Given the description of an element on the screen output the (x, y) to click on. 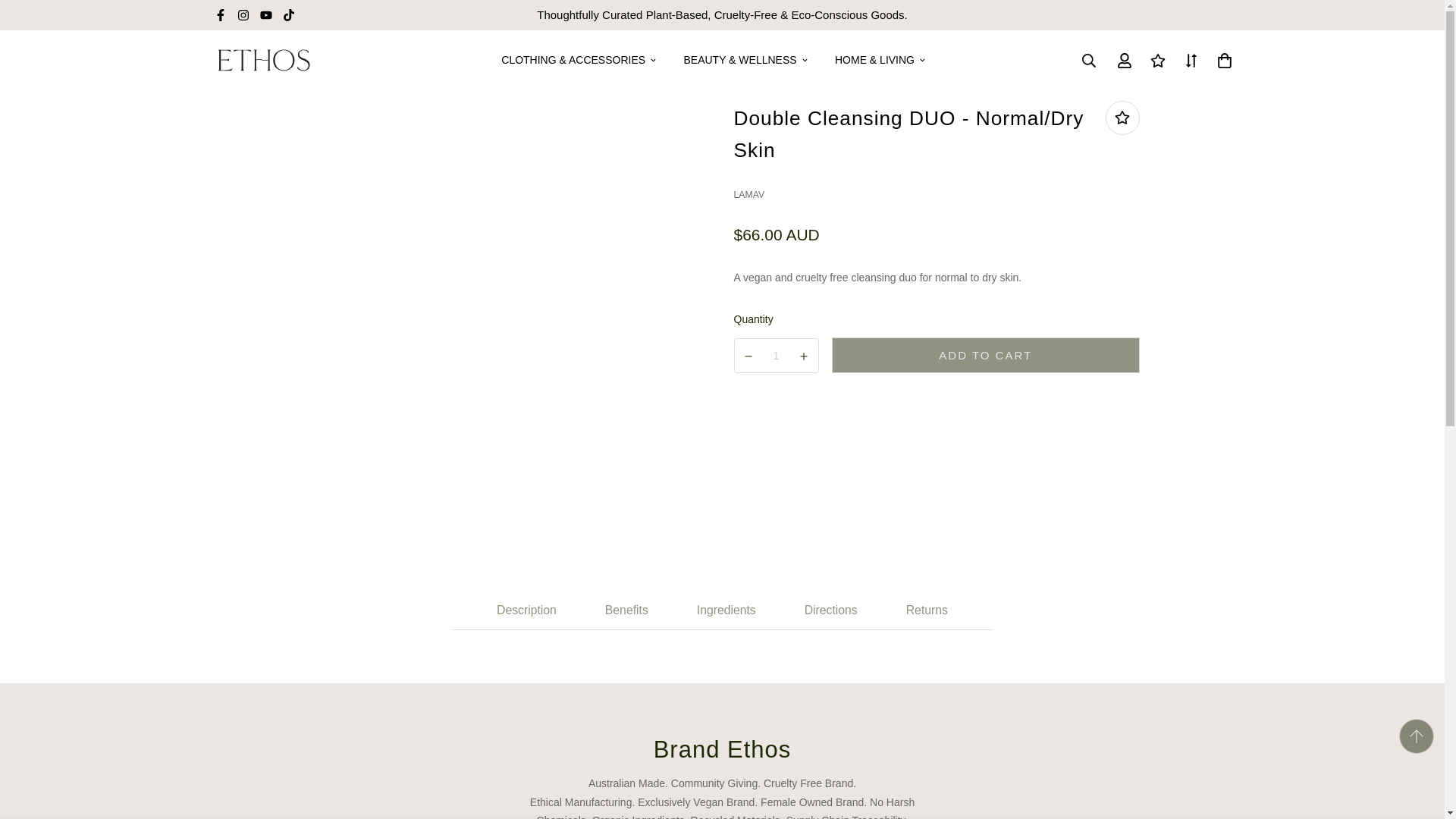
ETHOS (263, 59)
